Given the description of an element on the screen output the (x, y) to click on. 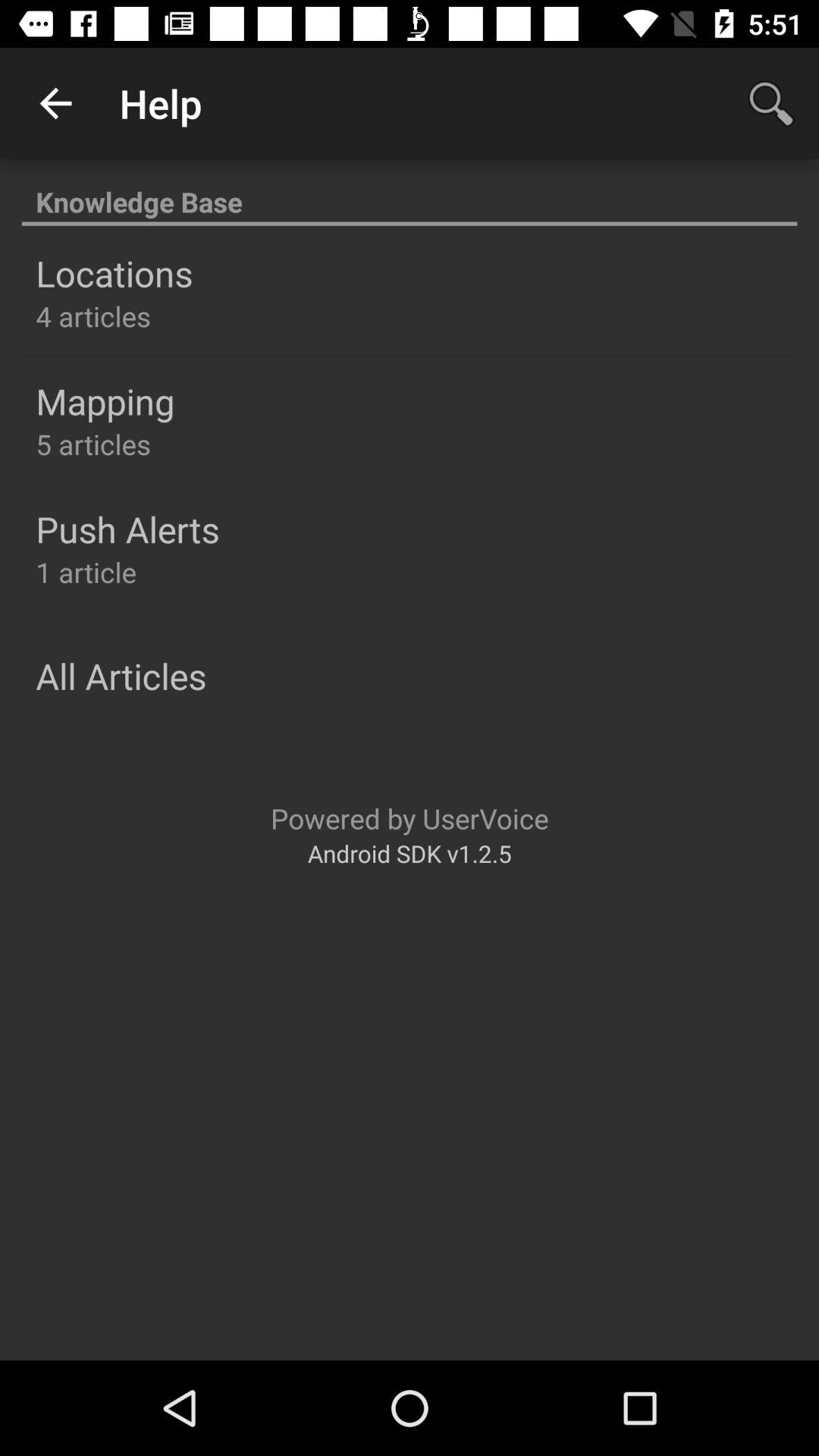
click icon next to the help icon (771, 103)
